Given the description of an element on the screen output the (x, y) to click on. 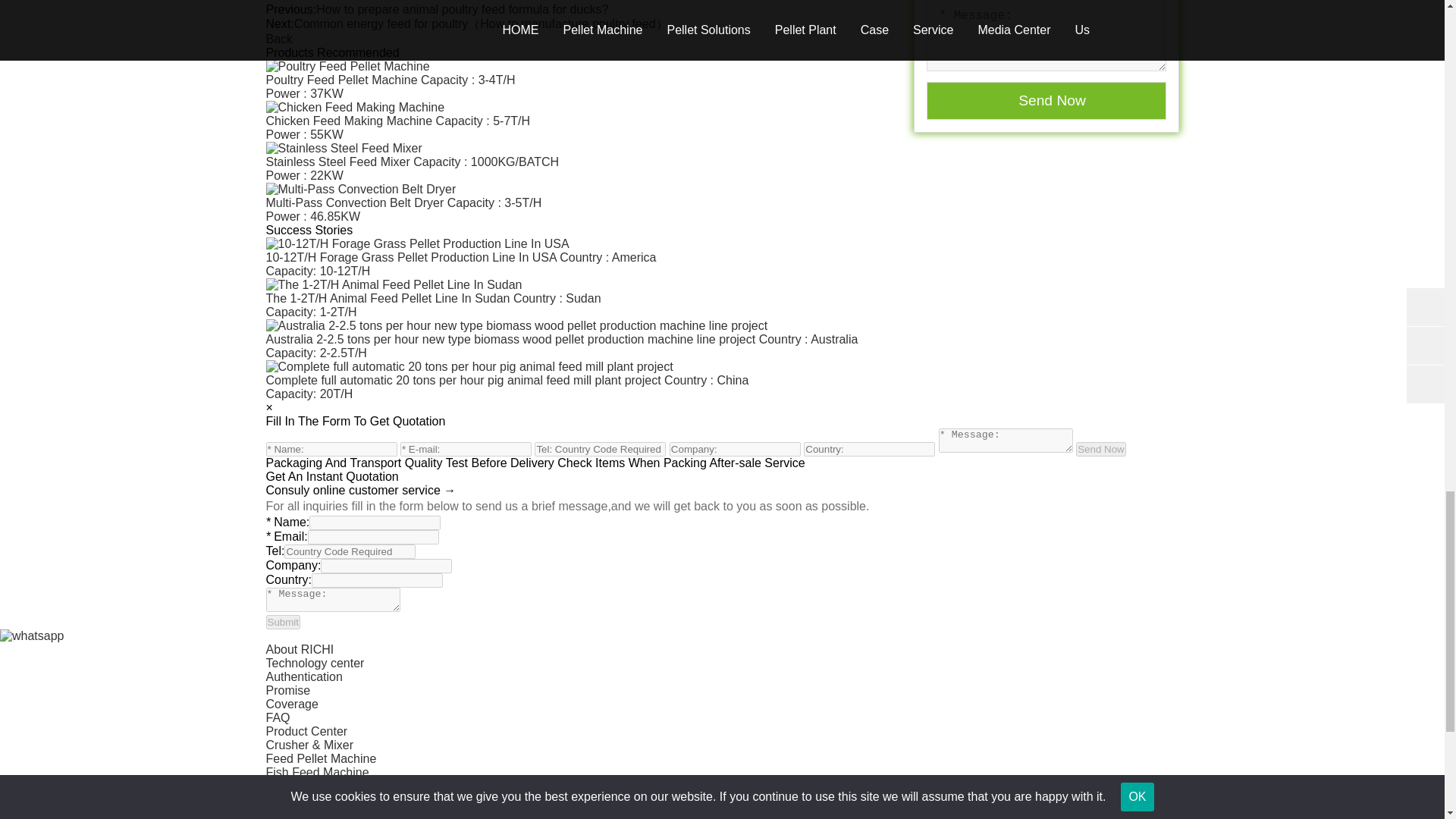
Stainless Steel Feed Mixer (720, 161)
Please fill in the correct phone format (599, 449)
Poultry Feed Pellet Machine (720, 79)
Please fill in the correct phone format (348, 551)
Multi-Pass Convection Belt Dryer (720, 202)
Submit (281, 622)
Chicken Feed Making Machine (720, 120)
Send Now (1100, 449)
